Given the description of an element on the screen output the (x, y) to click on. 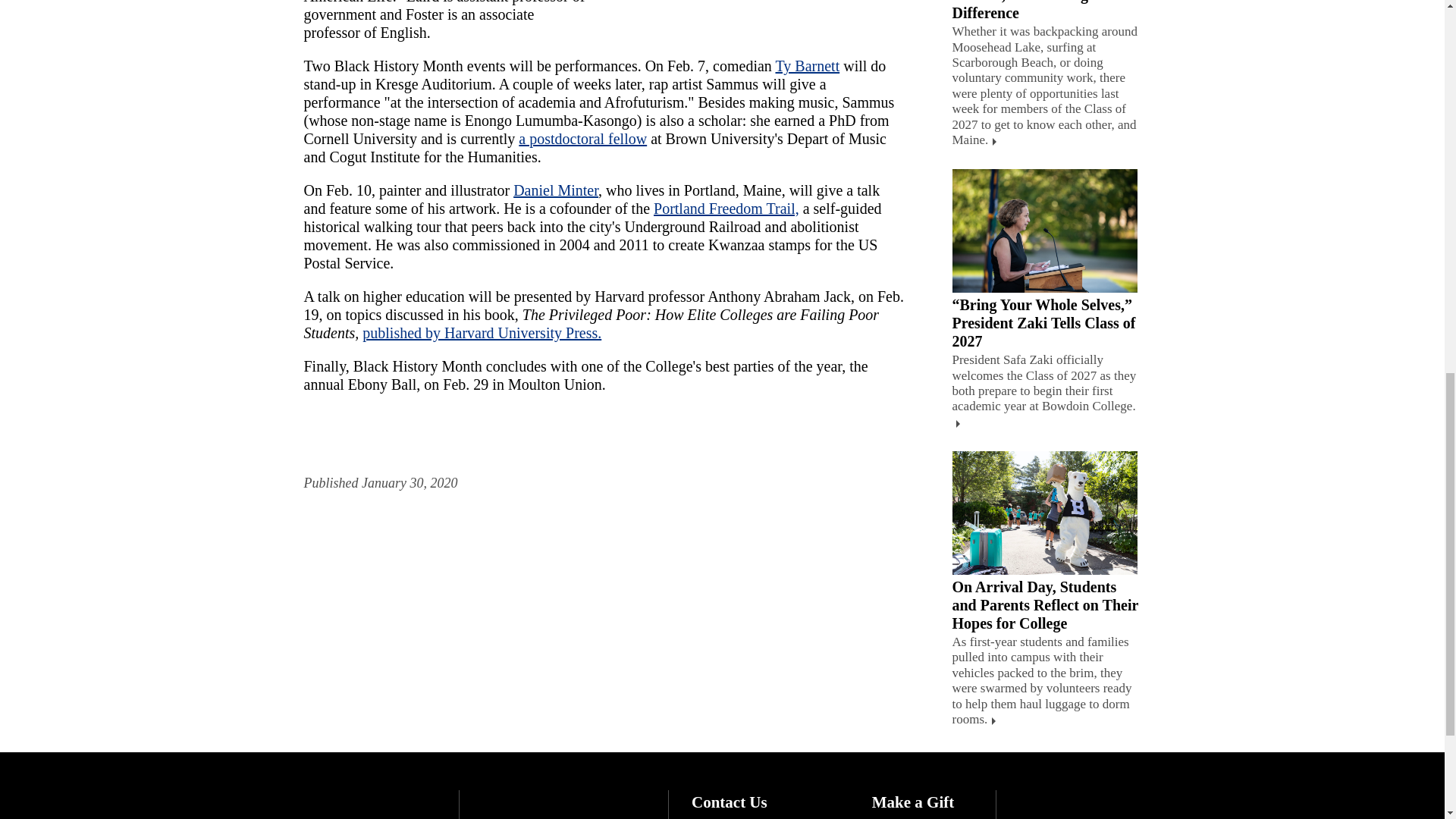
Ty Barnett (807, 65)
Daniel Minter (555, 190)
published by Harvard University Press. (481, 332)
Getting Out, Making Friends, and Making a Difference (1025, 10)
Portland Freedom Trail, (726, 208)
a postdoctoral fellow (582, 138)
